Given the description of an element on the screen output the (x, y) to click on. 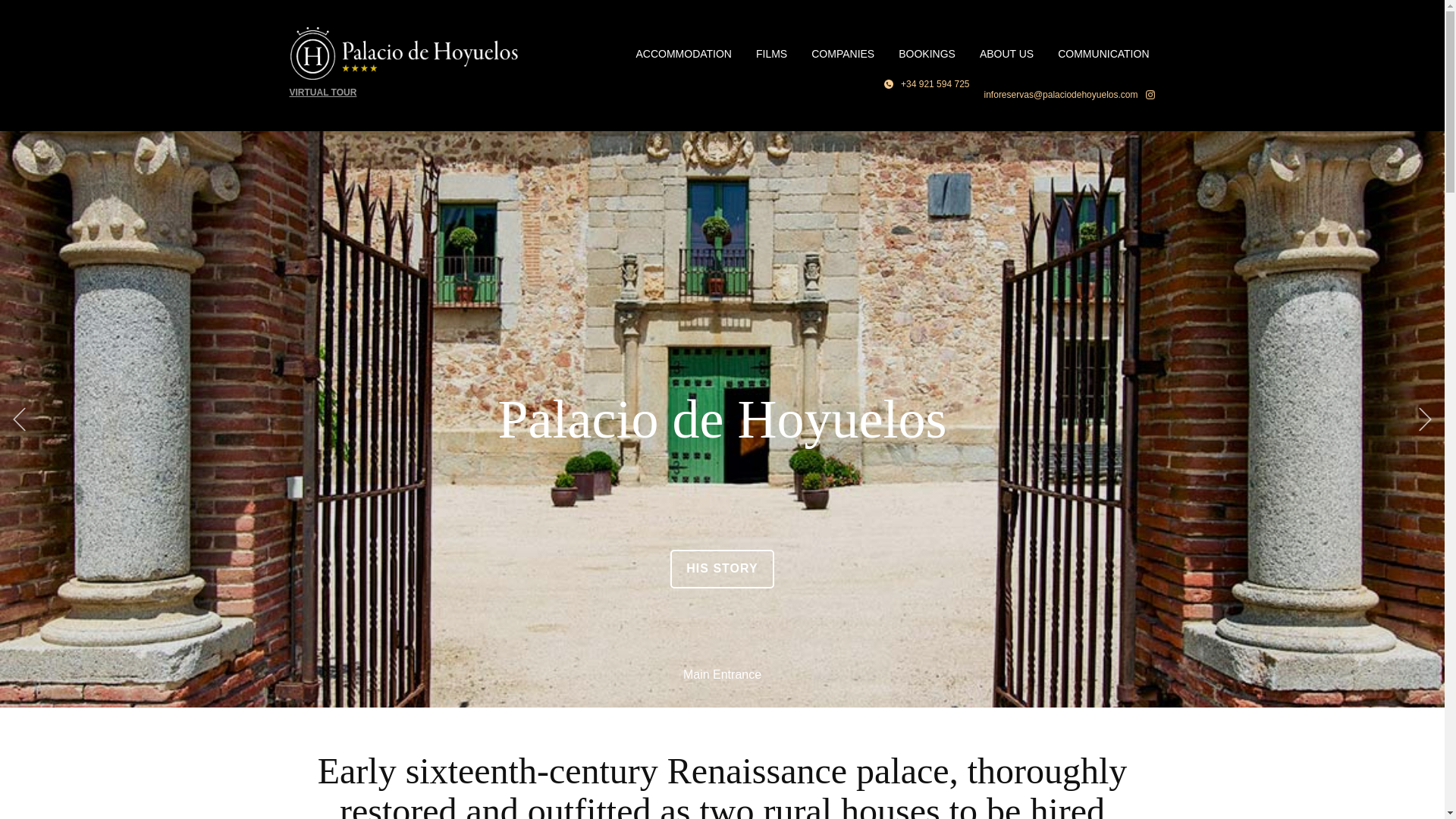
ACCOMMODATION (683, 53)
COMMUNICATION (1102, 53)
FILMS (771, 53)
HIS STORY (721, 568)
COMPANIES (842, 53)
BOOKINGS (927, 53)
ABOUT US (1006, 53)
VIRTUAL TOUR (322, 91)
